Given the description of an element on the screen output the (x, y) to click on. 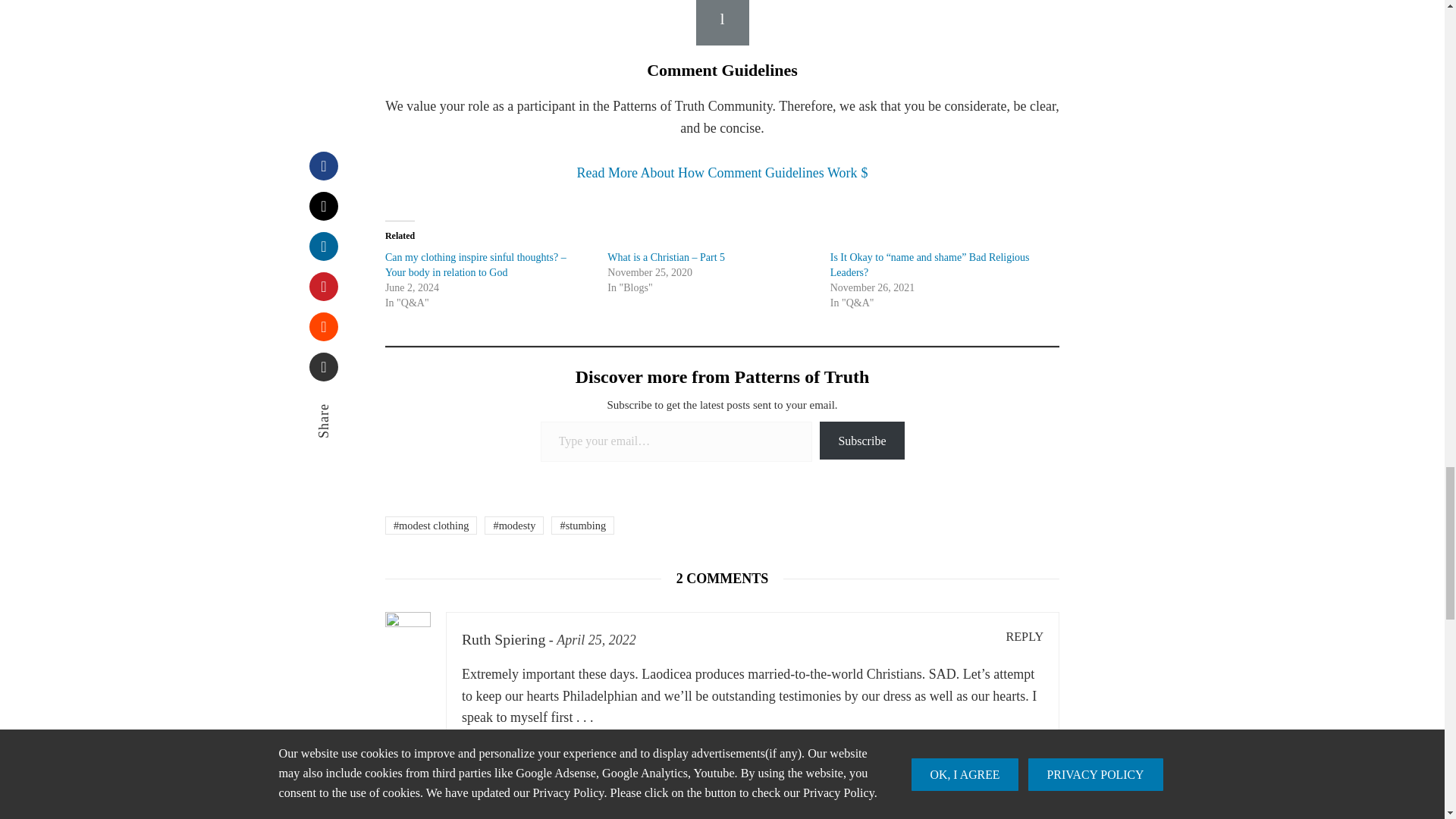
Subscribe (861, 440)
Please fill in this field. (676, 441)
Read More About How Comment Guidelines Work (721, 172)
